Given the description of an element on the screen output the (x, y) to click on. 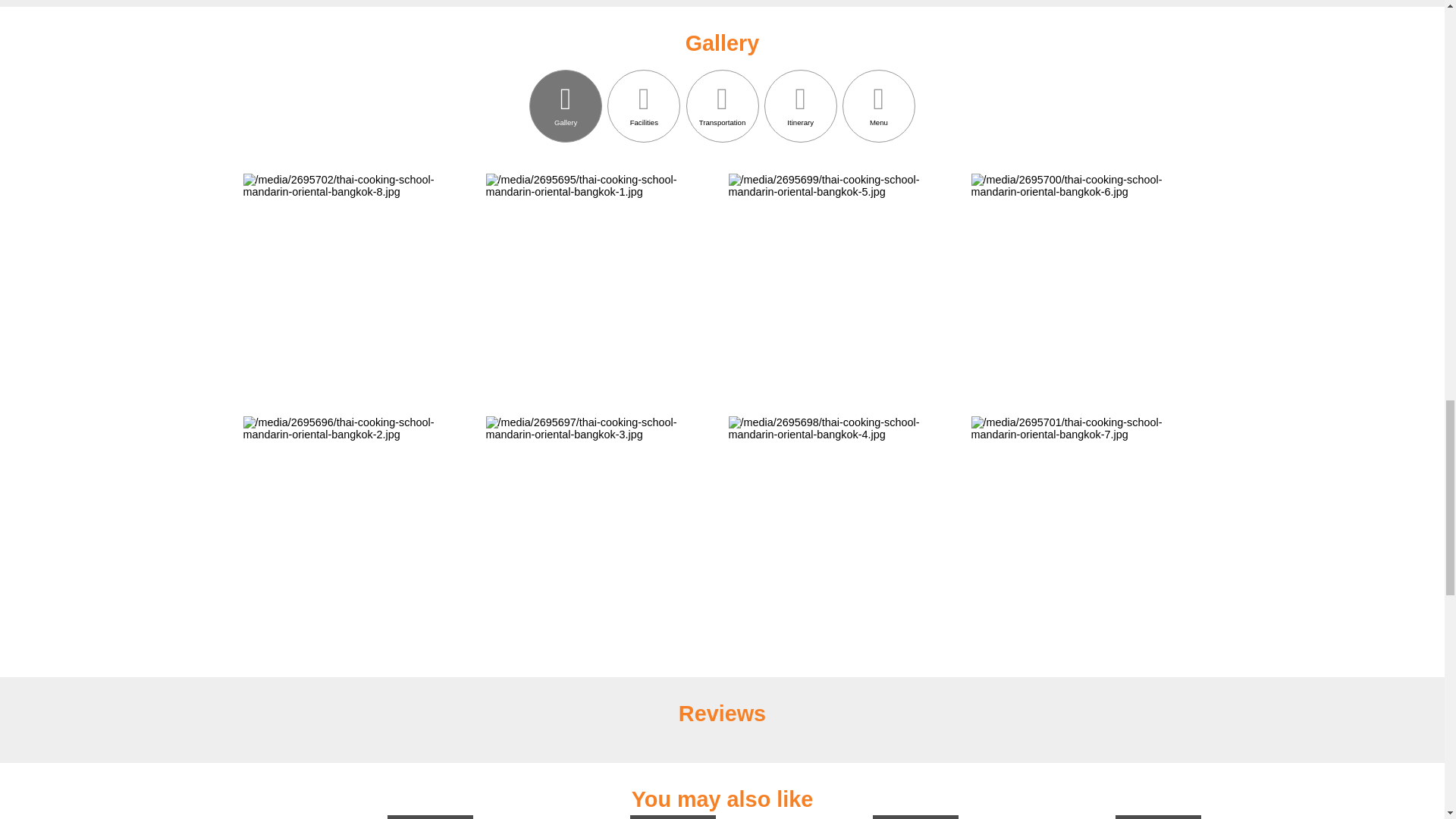
Facilities (643, 105)
Itinerary (800, 105)
Transportation (721, 105)
Gallery (565, 105)
Menu (879, 105)
